Given the description of an element on the screen output the (x, y) to click on. 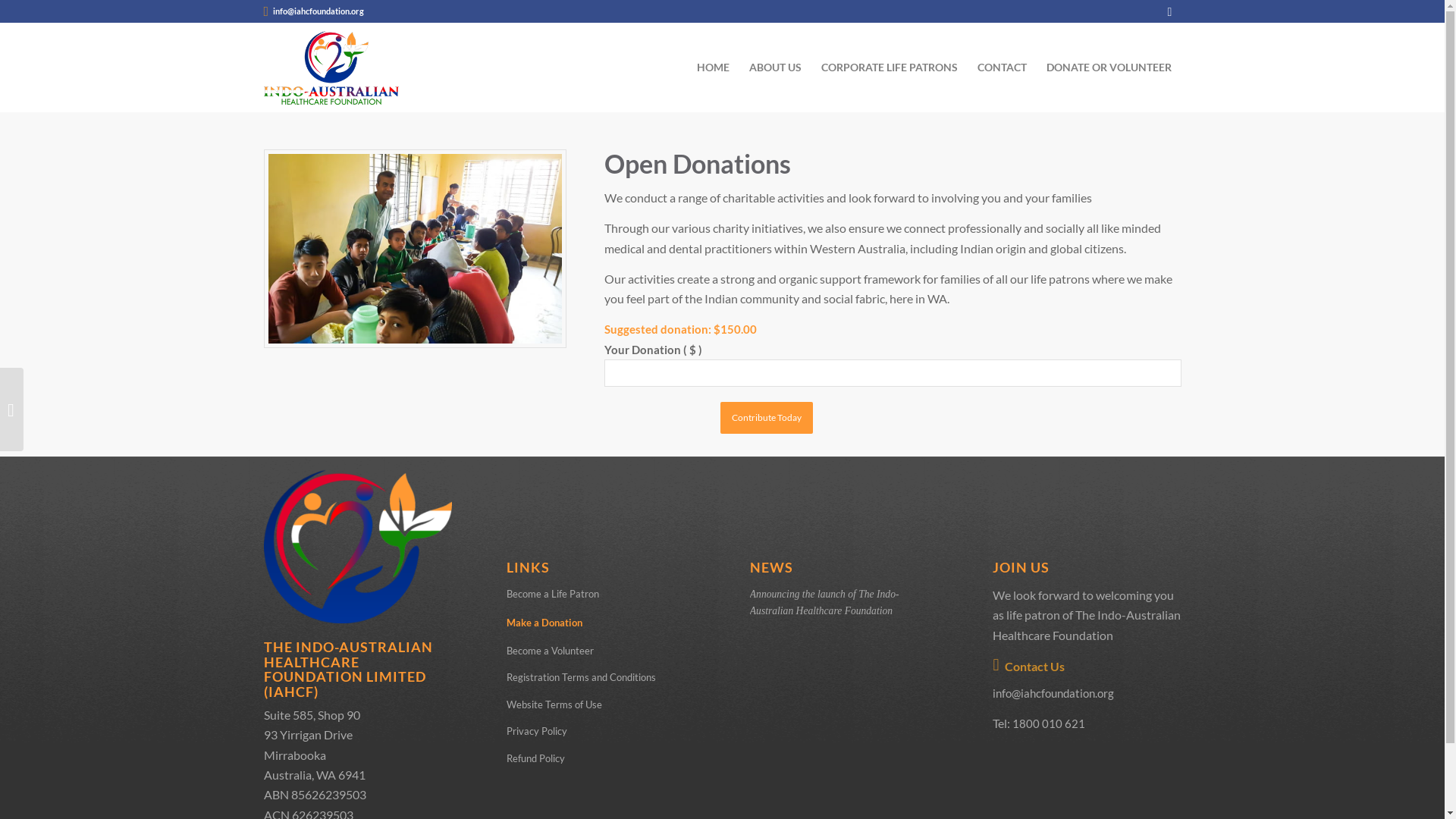
Refund Policy Element type: text (600, 758)
Privacy Policy Element type: text (600, 731)
Contribute Today Element type: text (766, 417)
HOME Element type: text (713, 67)
Registration Terms and Conditions Element type: text (600, 677)
Facebook Element type: hover (1169, 11)
iahc-logo Element type: hover (330, 67)
Website Terms of Use Element type: text (600, 704)
ABOUT US Element type: text (774, 67)
Become a Life Patron Element type: text (600, 593)
info@iahcfoundation.org Element type: text (318, 10)
1800 010 621 Element type: text (1048, 723)
CONTACT Element type: text (1001, 67)
Become a Volunteer Element type: text (600, 650)
DONATE OR VOLUNTEER Element type: text (1107, 67)
CORPORATE LIFE PATRONS Element type: text (889, 67)
info@iahcfoundation.org Element type: text (1052, 692)
Your Donation ( $ ) Element type: hover (892, 372)
Make a Donation Element type: text (600, 622)
